Given the description of an element on the screen output the (x, y) to click on. 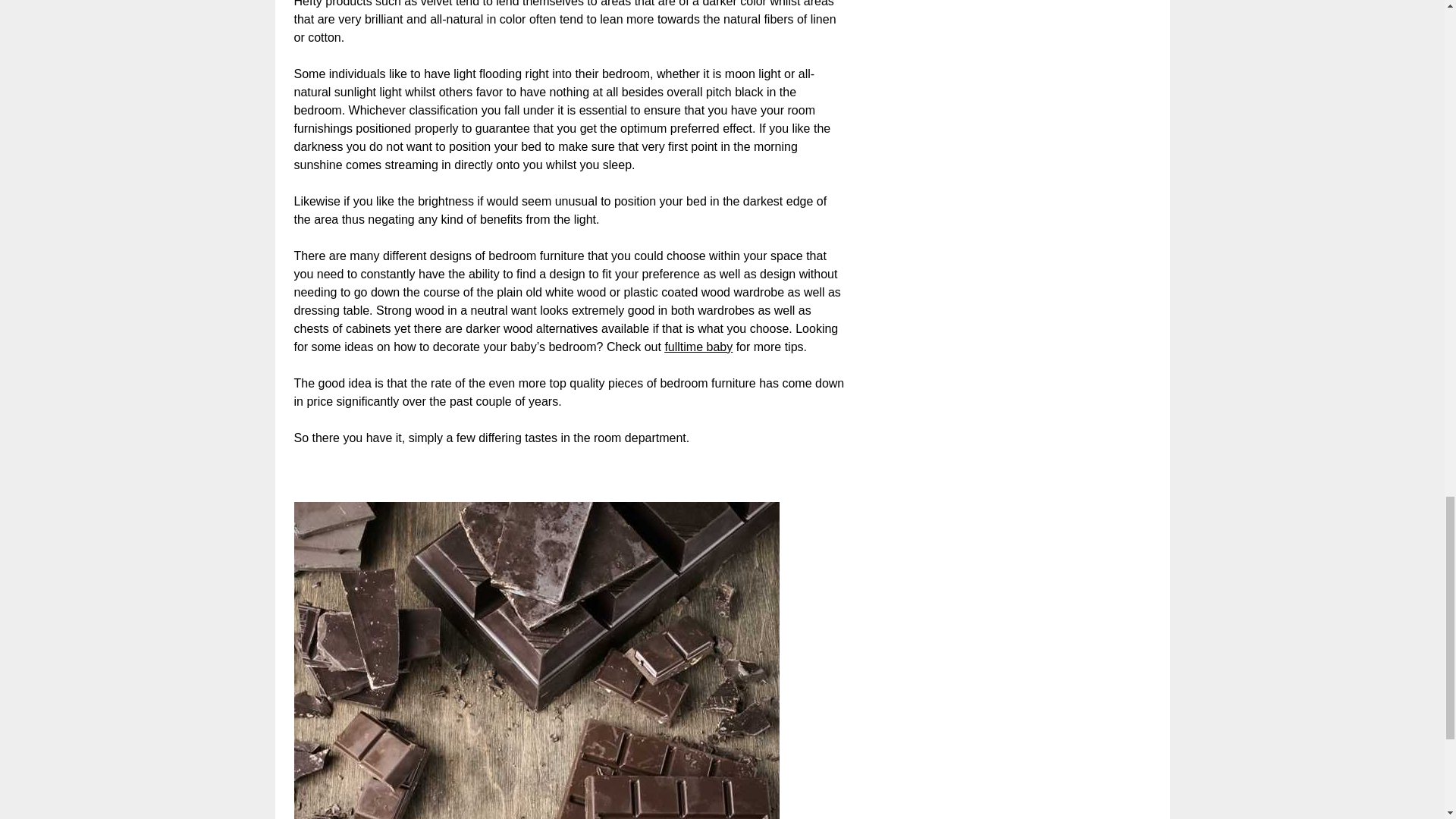
fulltime baby (697, 346)
